Given the description of an element on the screen output the (x, y) to click on. 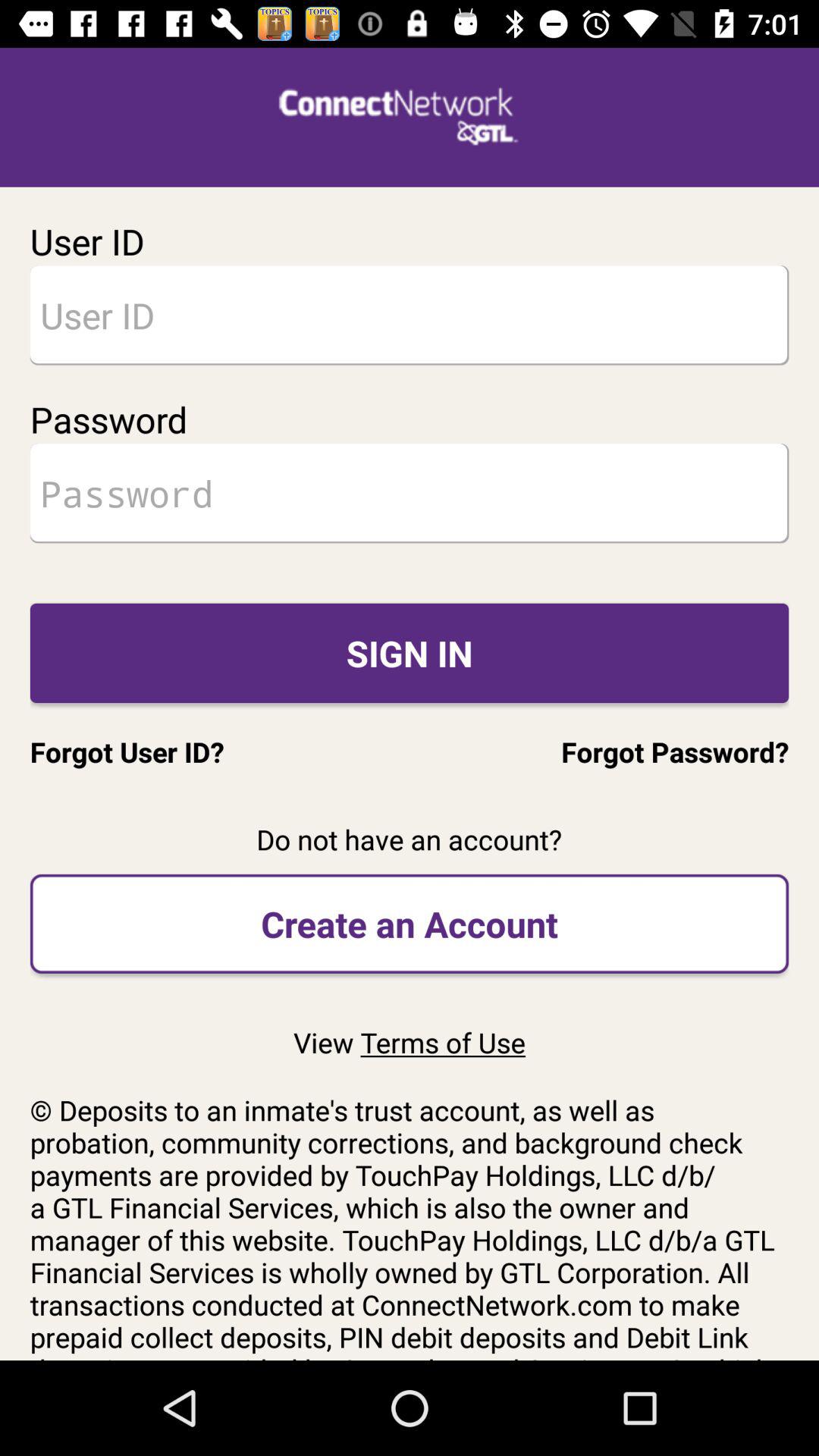
user id field (409, 315)
